Given the description of an element on the screen output the (x, y) to click on. 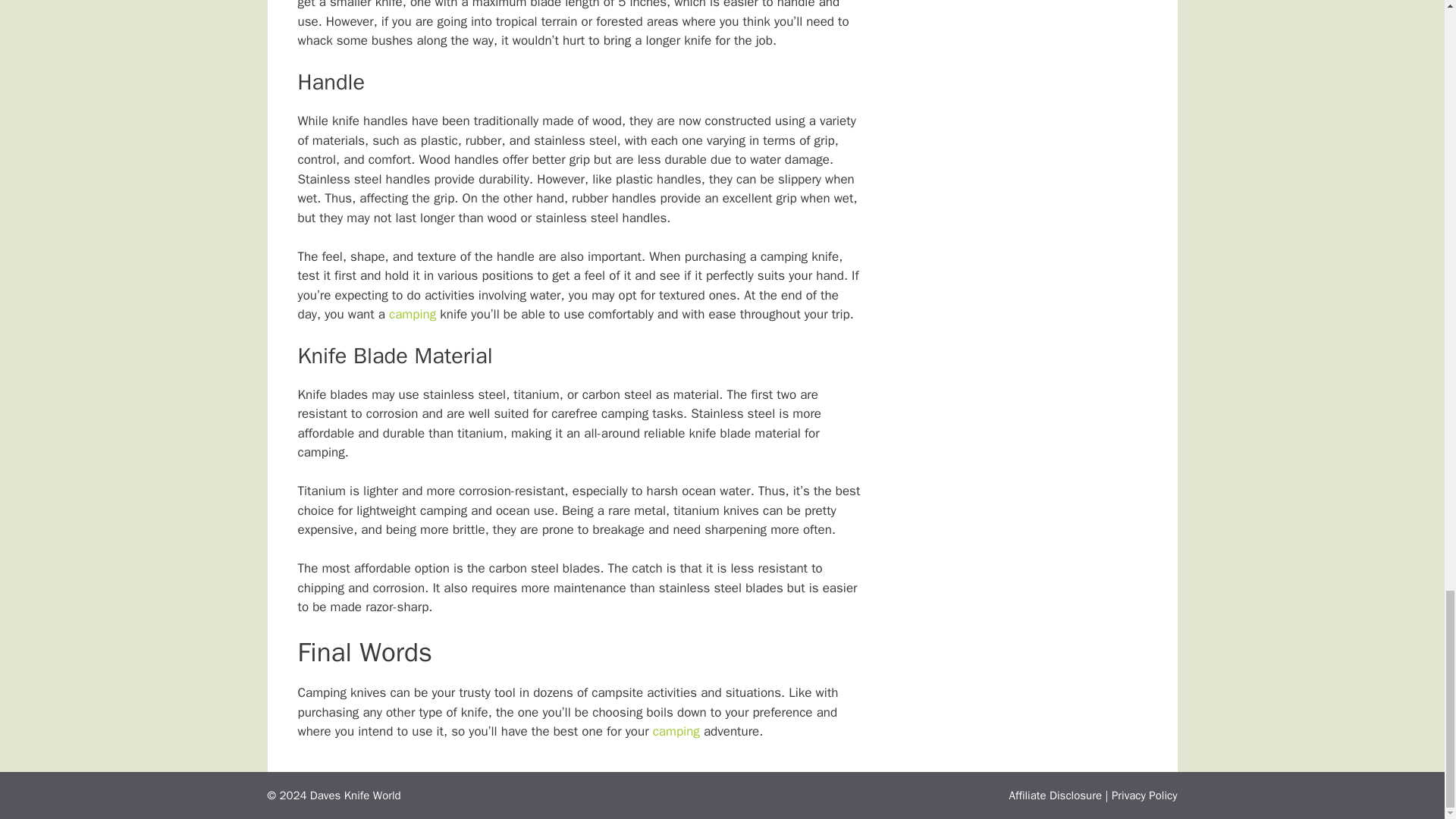
camping (677, 731)
camping (411, 314)
Affiliate Disclosure (1055, 795)
